Given the description of an element on the screen output the (x, y) to click on. 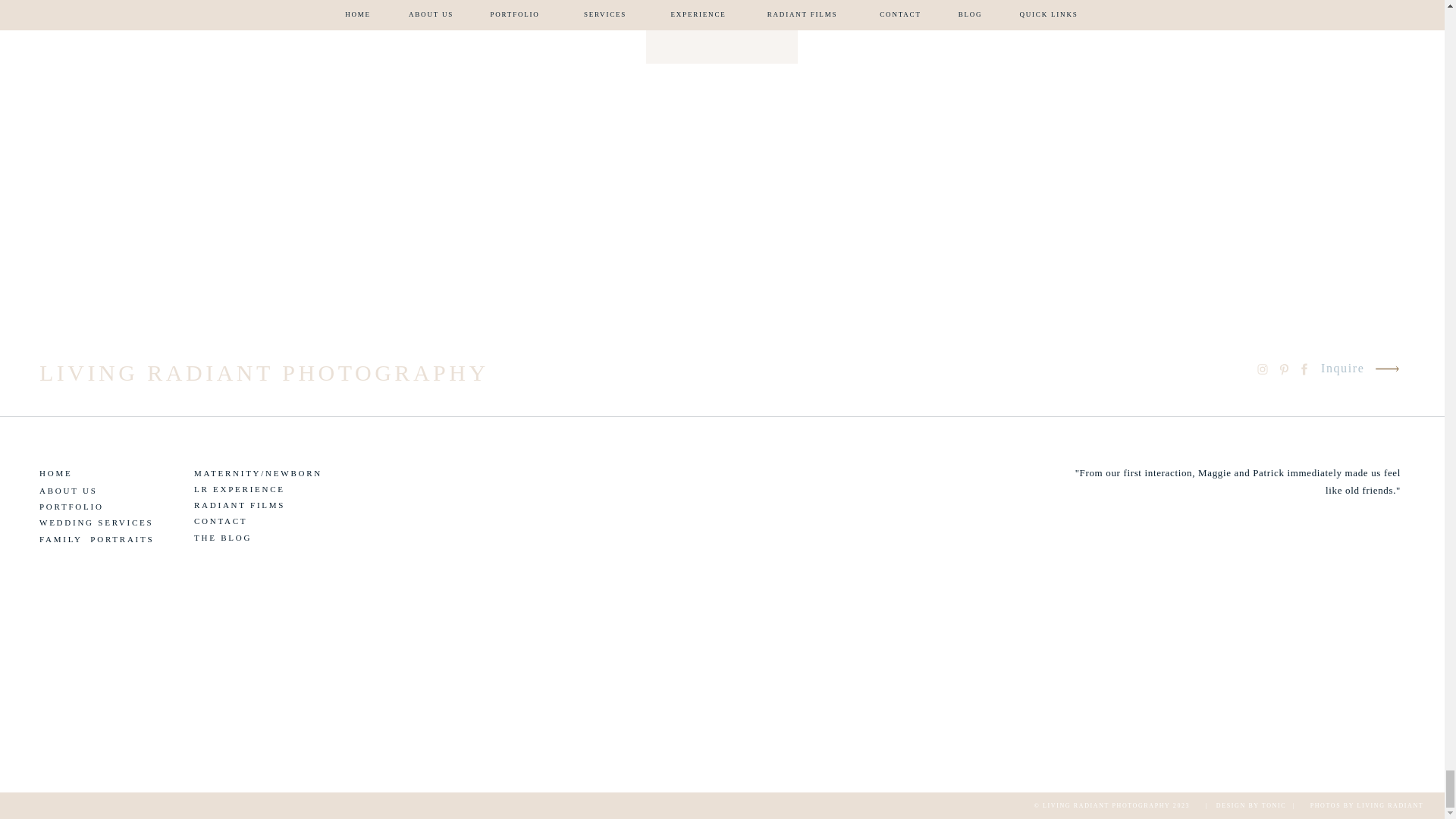
arrow (1386, 368)
